Given the description of an element on the screen output the (x, y) to click on. 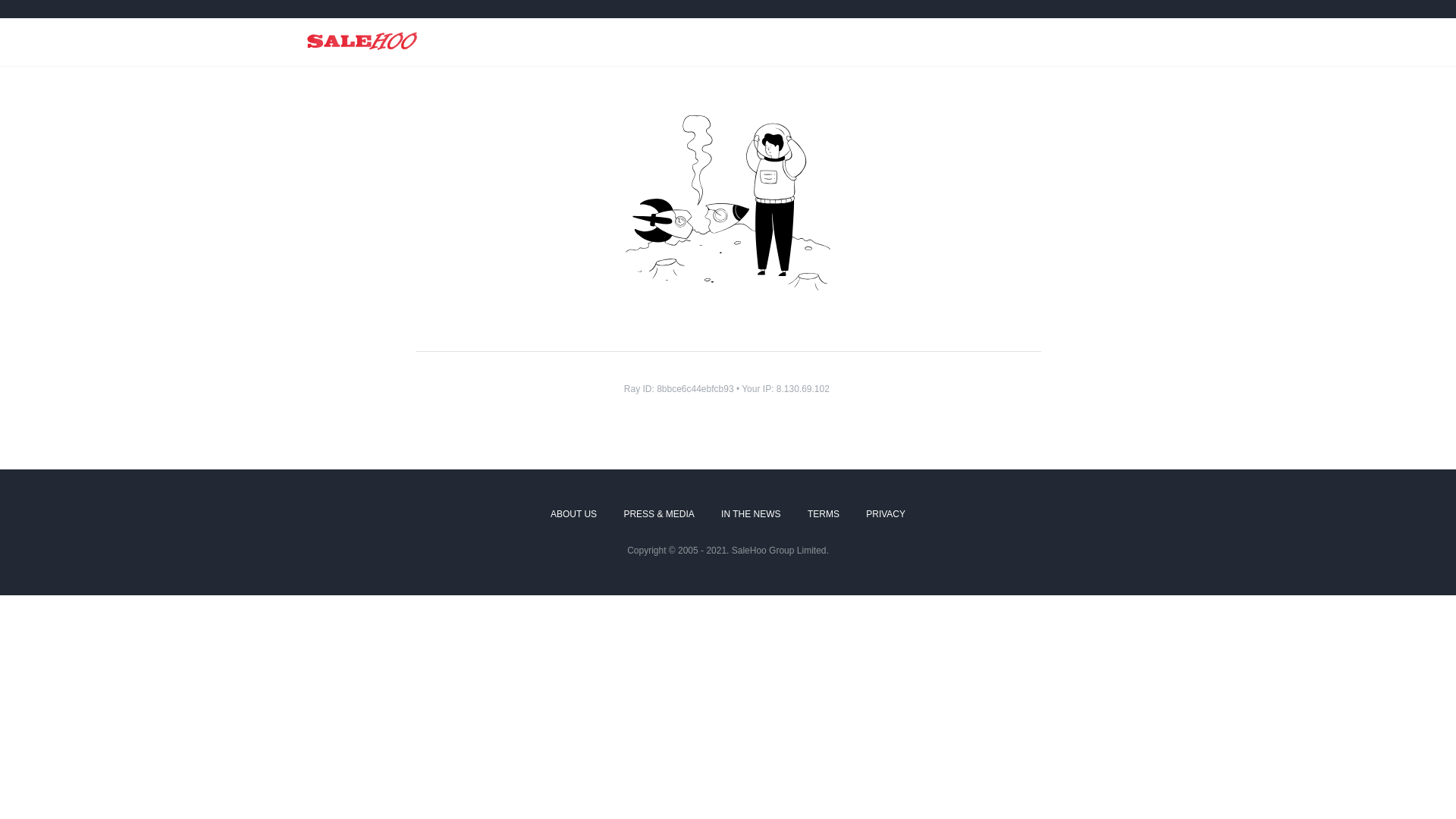
TERMS (824, 514)
IN THE NEWS (750, 514)
PRIVACY (885, 514)
ABOUT US (573, 514)
